Given the description of an element on the screen output the (x, y) to click on. 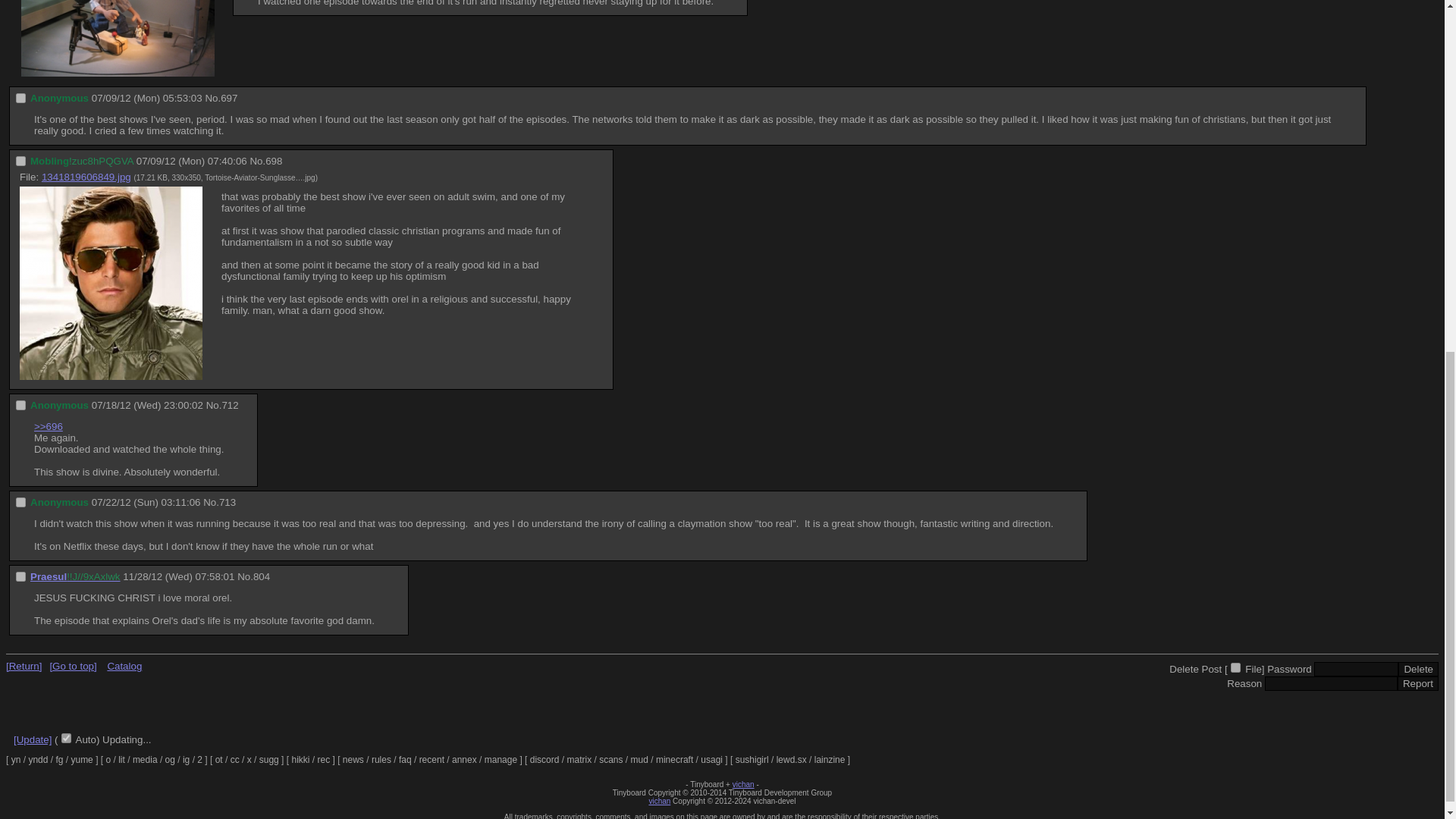
on (1235, 667)
on (21, 161)
Yume Nikki General (16, 759)
on (66, 737)
Tortoise-Aviator-Sunglasses.jpg (259, 177)
on (21, 98)
on (21, 501)
on (21, 576)
on (21, 405)
Delete file only (1235, 667)
